Given the description of an element on the screen output the (x, y) to click on. 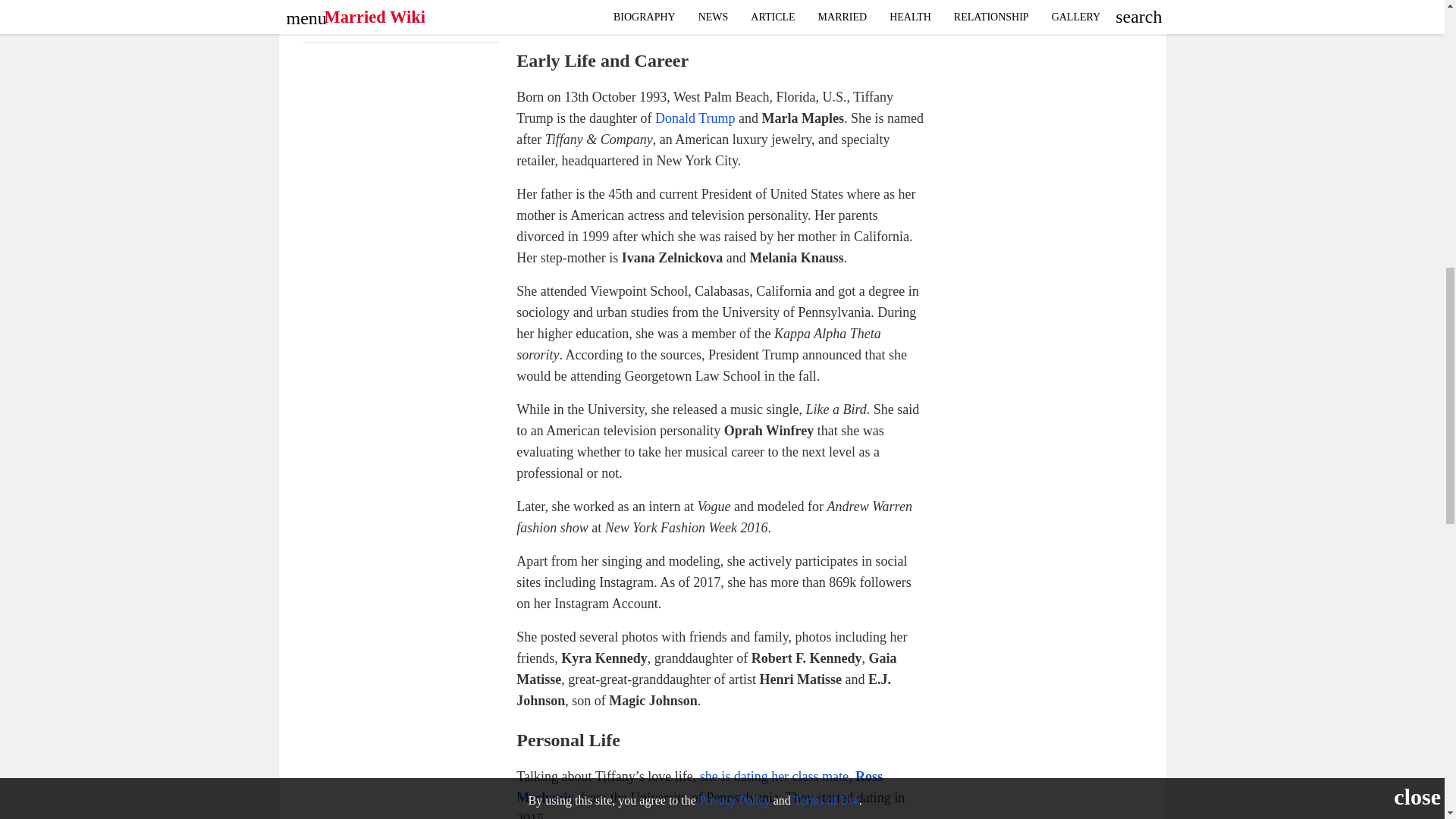
5 Feet 8 Inch (429, 26)
Donald Trump (695, 118)
